Given the description of an element on the screen output the (x, y) to click on. 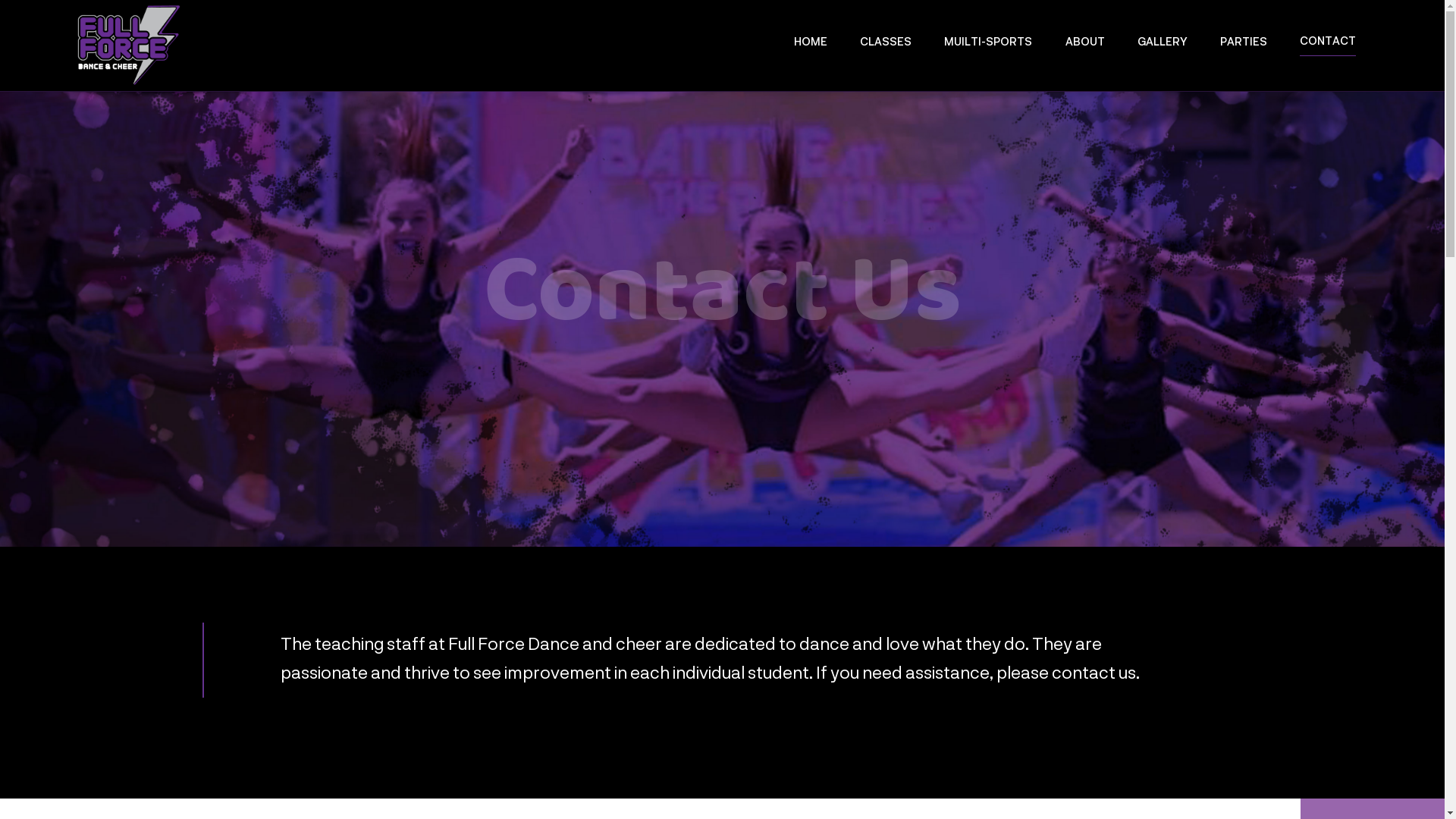
CONTACT Element type: text (1327, 44)
GALLERY Element type: text (1162, 45)
PARTIES Element type: text (1243, 45)
Fullforce Dance & Cheer Home Element type: hover (128, 45)
ABOUT Element type: text (1084, 45)
HOME Element type: text (810, 45)
MUILTI-SPORTS Element type: text (988, 45)
CLASSES Element type: text (885, 45)
